Given the description of an element on the screen output the (x, y) to click on. 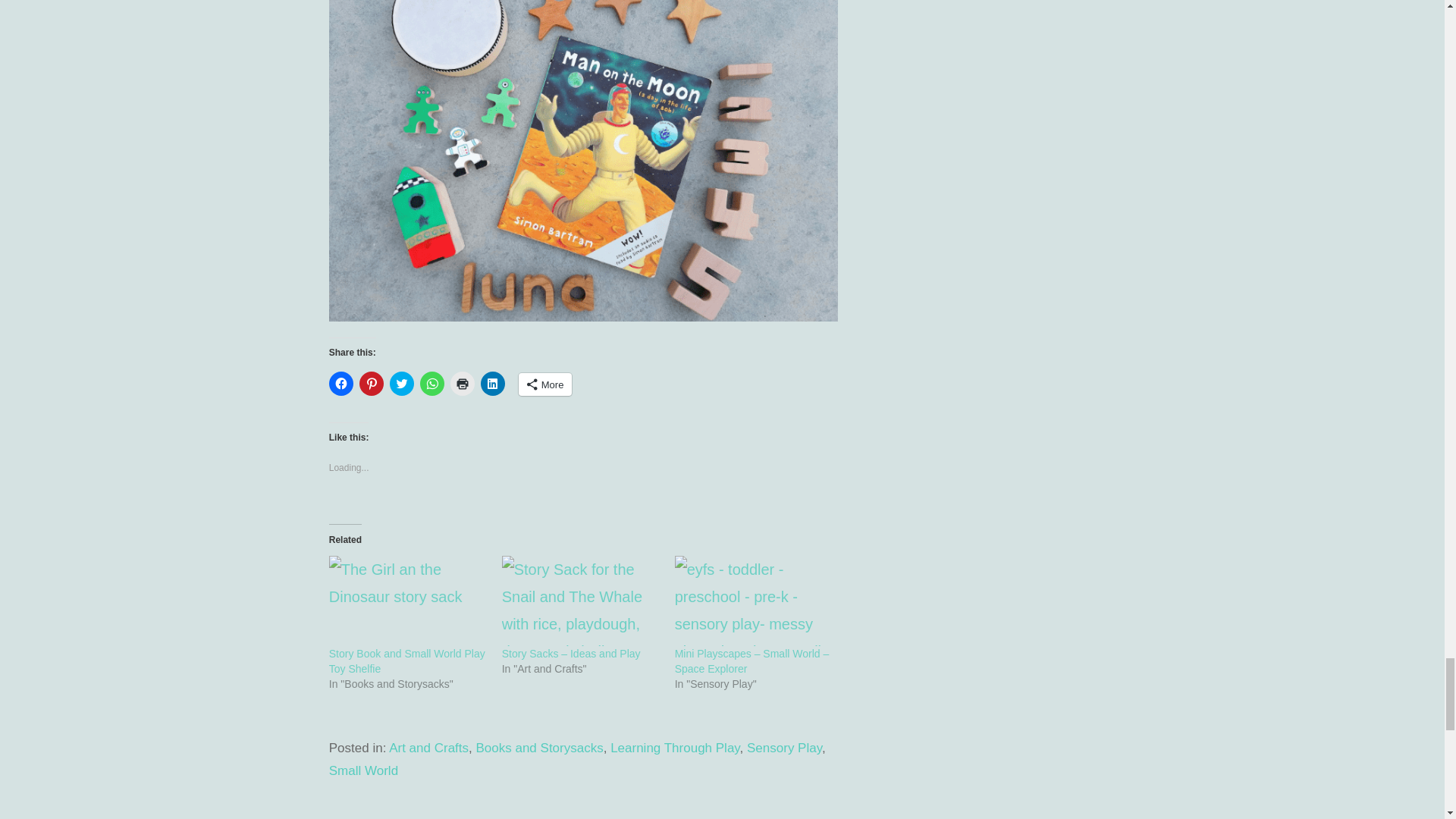
Click to share on Pinterest (371, 383)
Story Book and Small World Play Toy Shelfie (407, 601)
Click to share on Facebook (341, 383)
Click to print (461, 383)
Story Book and Small World Play Toy Shelfie (406, 660)
Click to share on WhatsApp (432, 383)
Click to share on LinkedIn (492, 383)
Click to share on Twitter (401, 383)
